Given the description of an element on the screen output the (x, y) to click on. 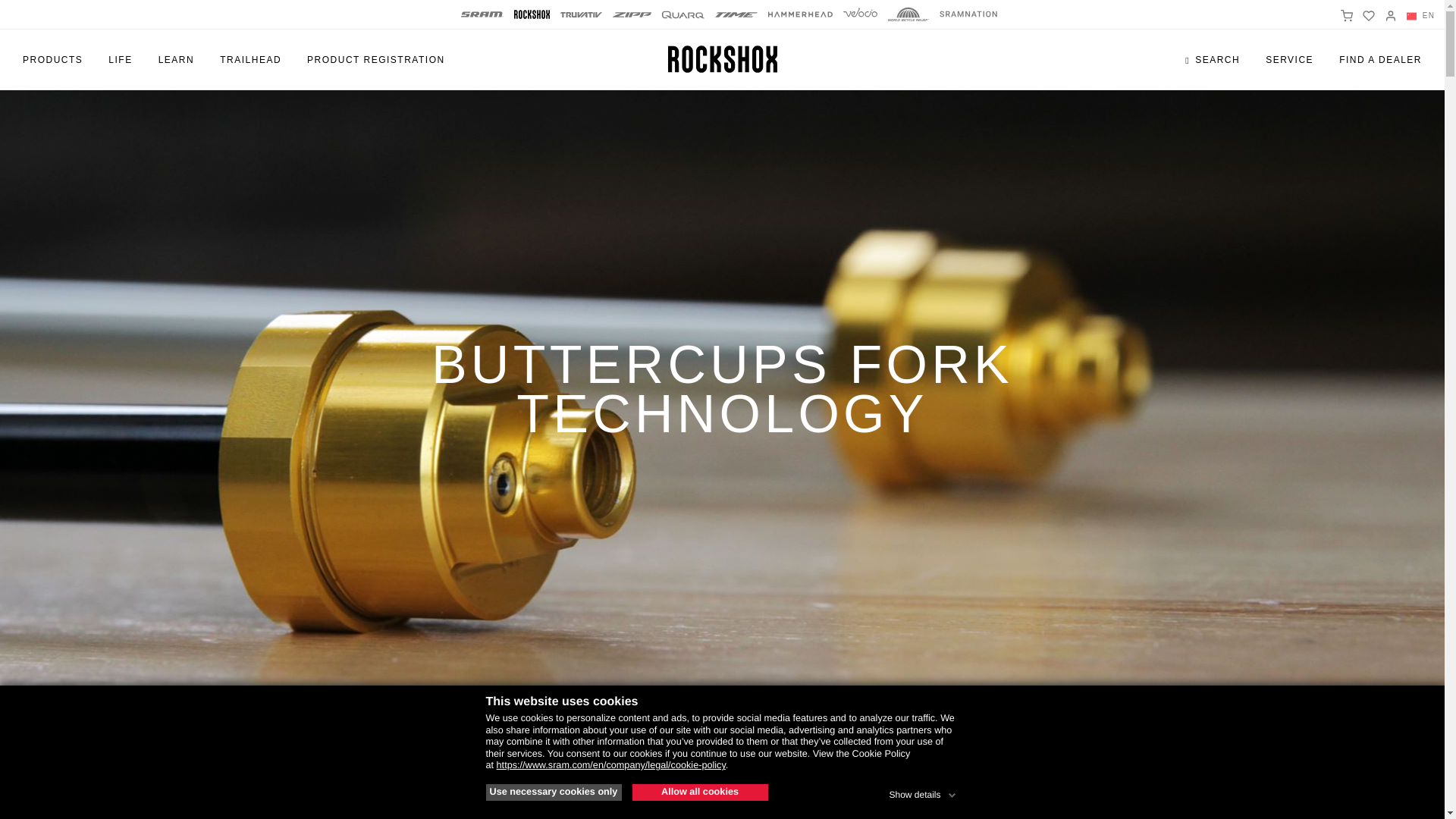
Show details (923, 791)
Allow all cookies (699, 791)
Use necessary cookies only (552, 791)
SRAM Cookie Policy (610, 765)
